Given the description of an element on the screen output the (x, y) to click on. 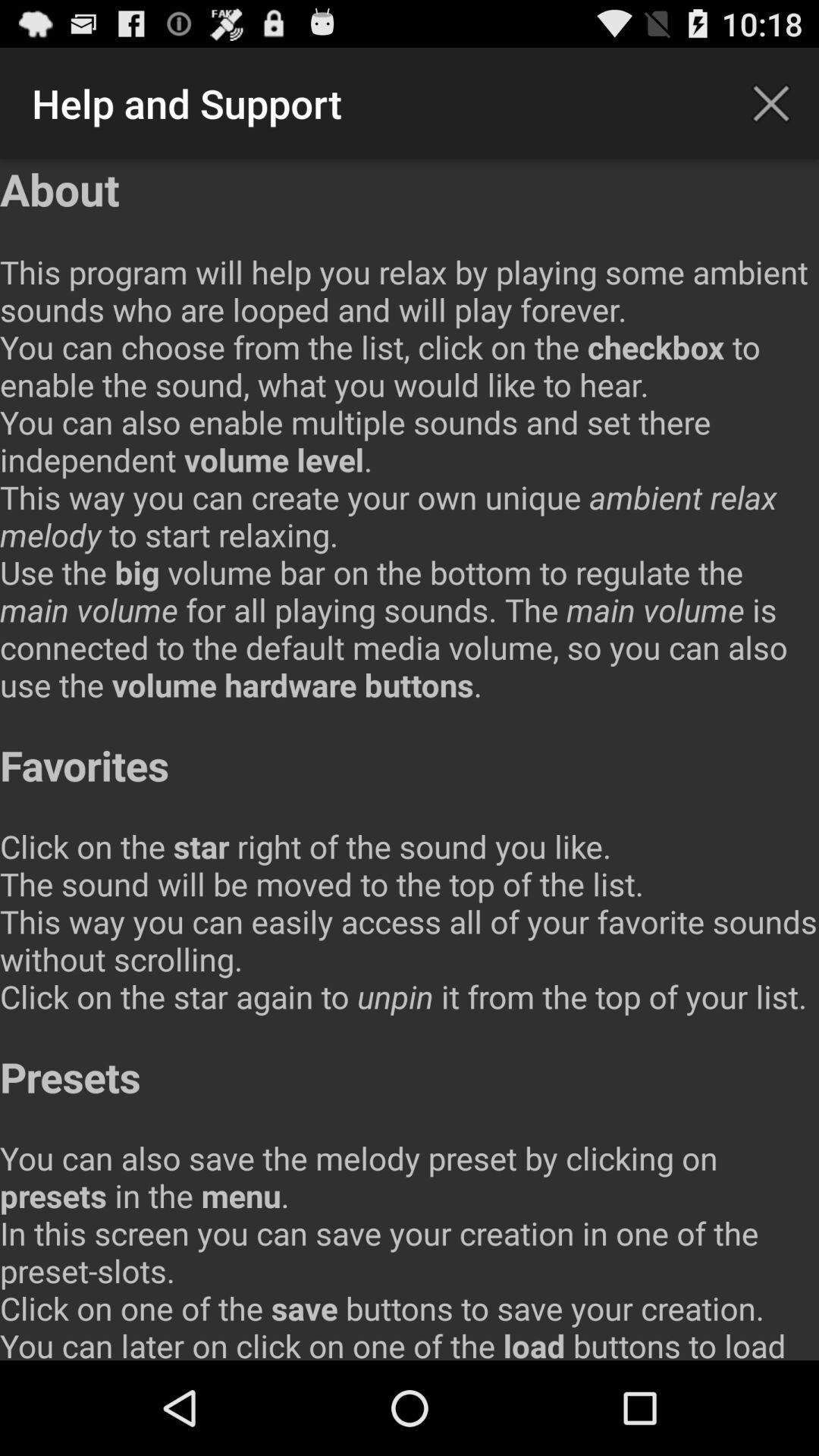
turn off icon above the about this program app (771, 103)
